Given the description of an element on the screen output the (x, y) to click on. 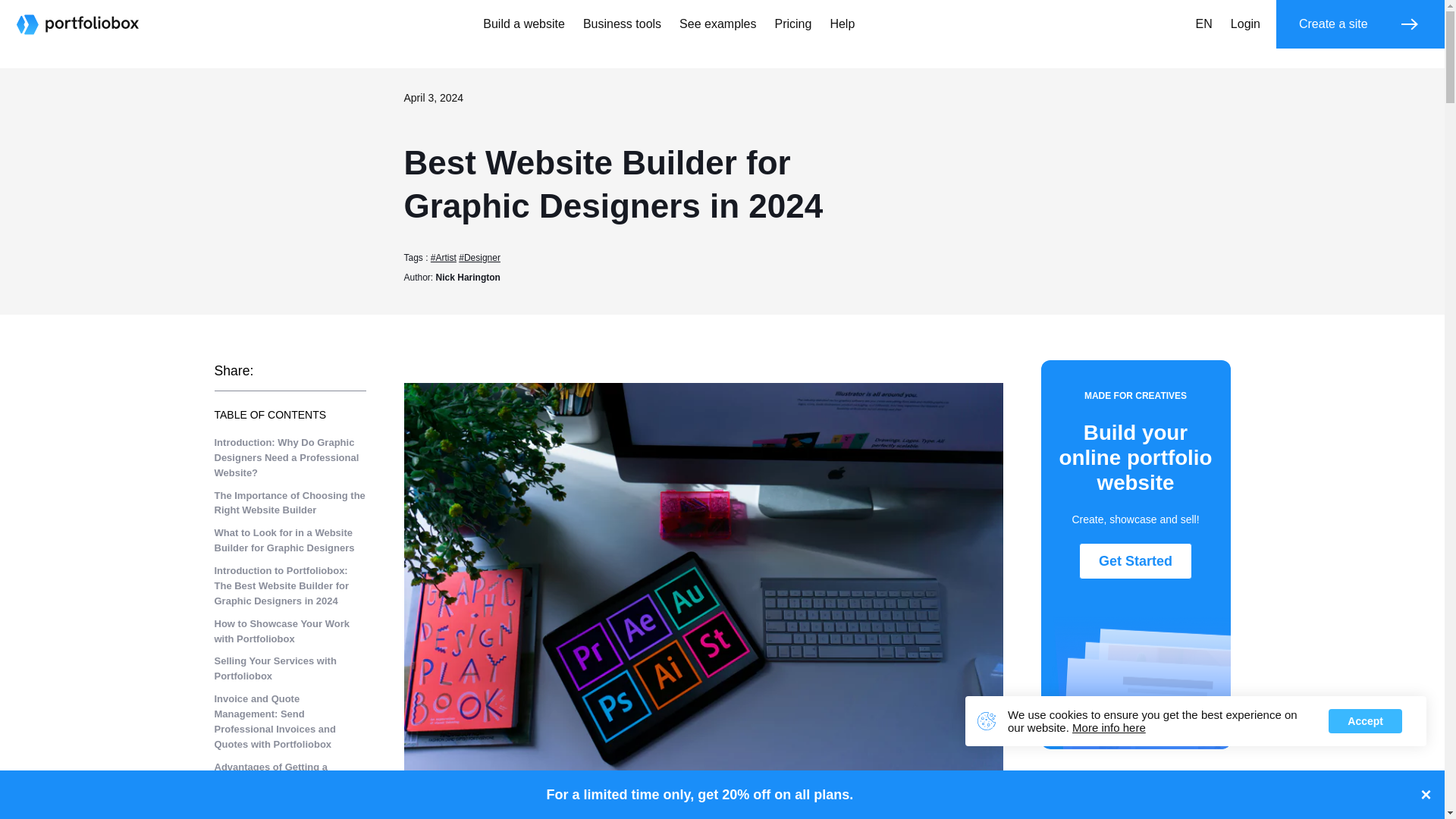
Build a website (523, 24)
Help (842, 24)
Business tools (621, 24)
See examples (717, 24)
Pricing (793, 24)
